Given the description of an element on the screen output the (x, y) to click on. 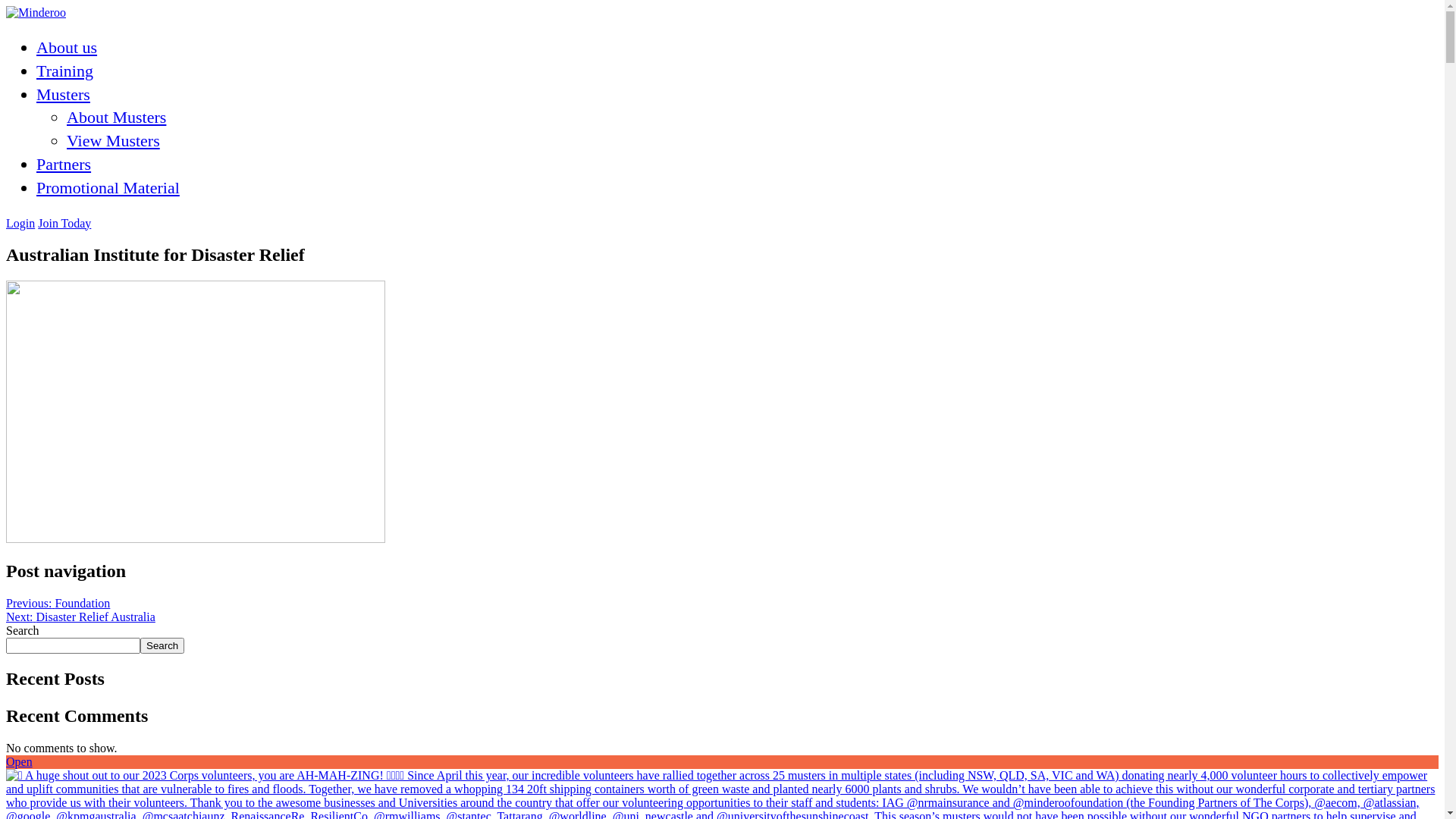
Training Element type: text (64, 70)
Next: Disaster Relief Australia Element type: text (80, 616)
Join Today Element type: text (64, 222)
Promotional Material Element type: text (107, 187)
Previous: Foundation Element type: text (57, 602)
Login Element type: text (20, 222)
Musters Element type: text (63, 93)
Partners Element type: text (63, 163)
About Musters Element type: text (116, 116)
View Musters Element type: text (113, 140)
Search Element type: text (162, 645)
Open Element type: text (19, 761)
About us Element type: text (66, 46)
